Given the description of an element on the screen output the (x, y) to click on. 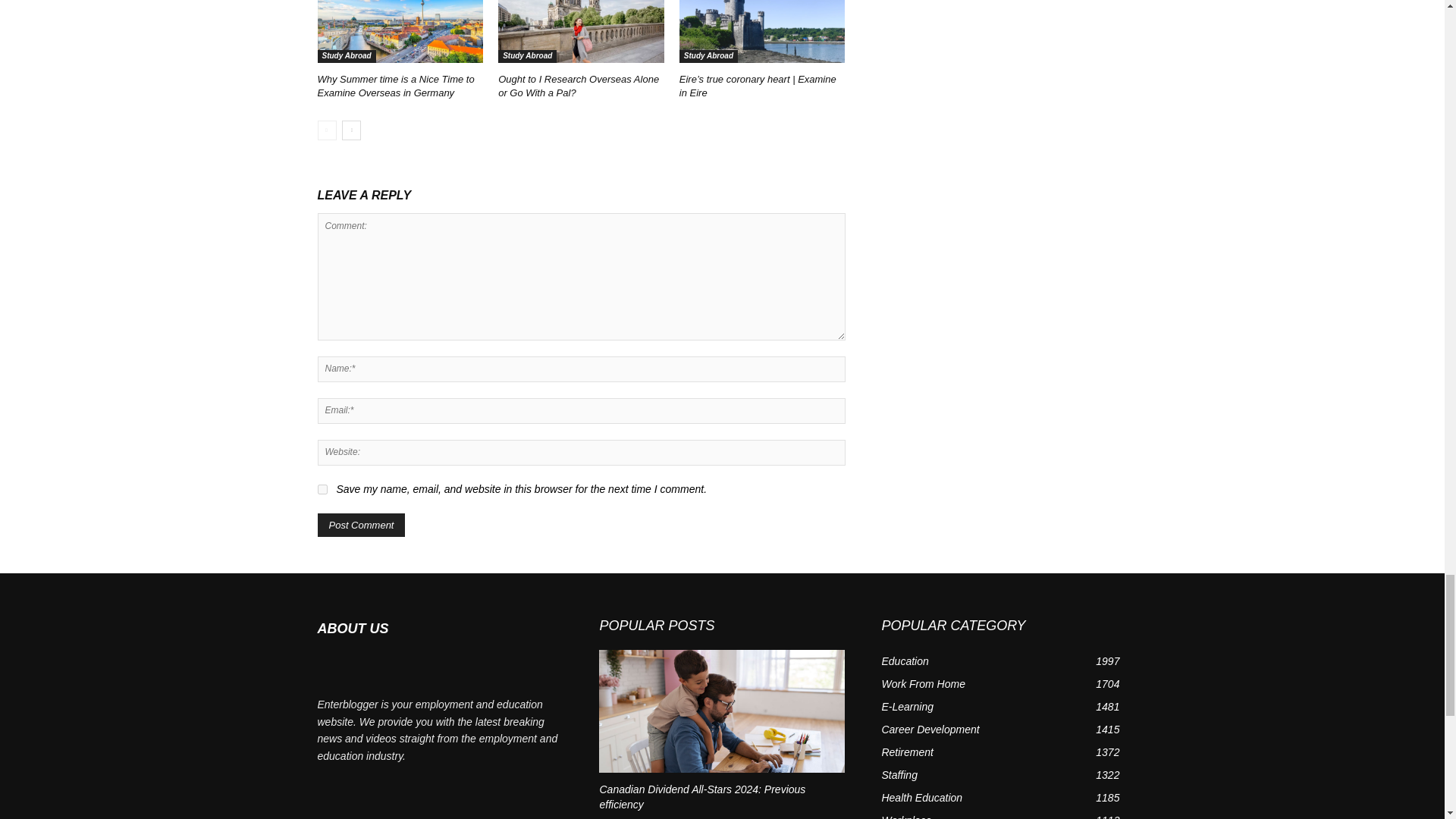
yes (321, 489)
Post Comment (360, 525)
